Given the description of an element on the screen output the (x, y) to click on. 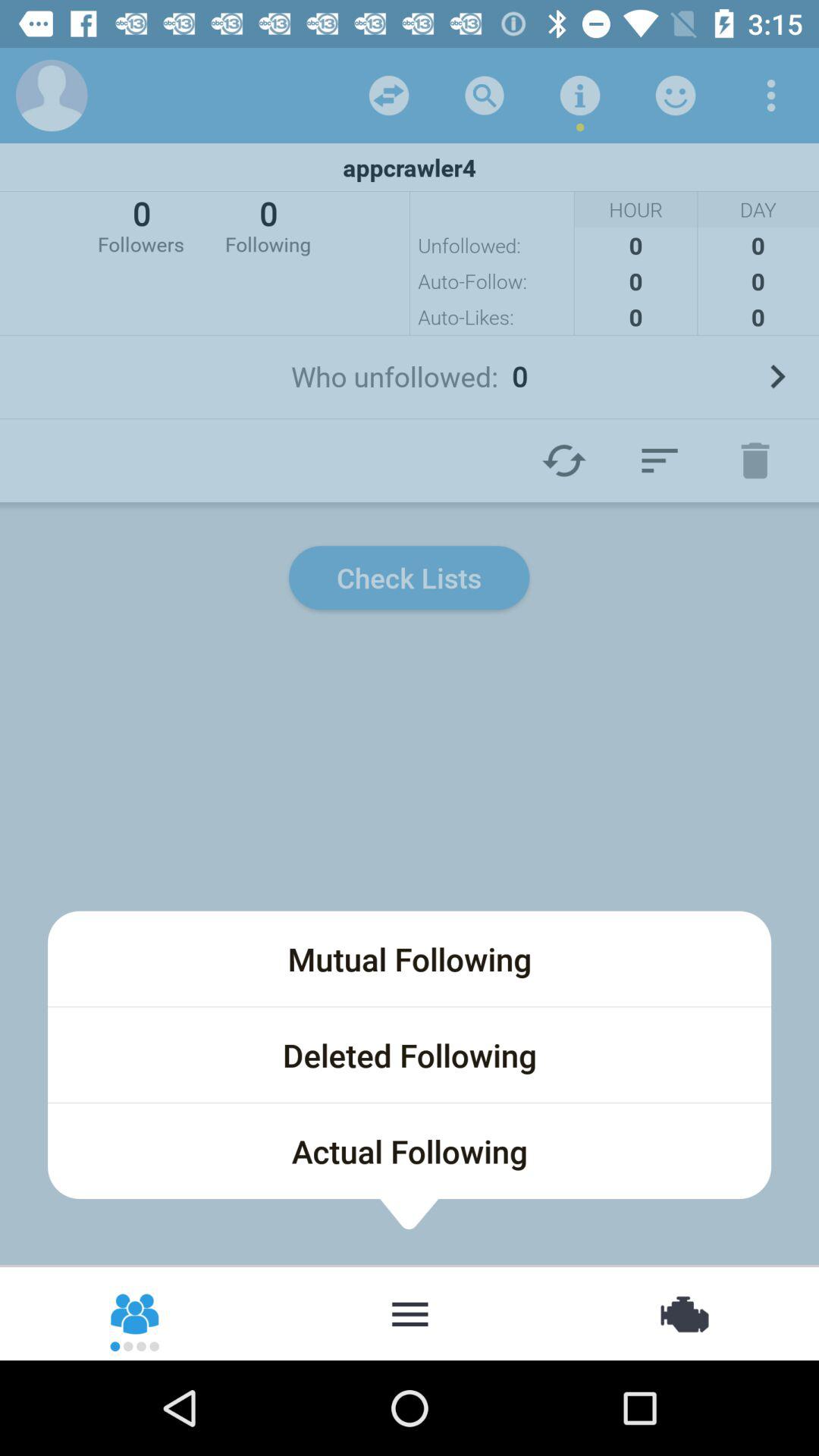
display menu (409, 1312)
